Given the description of an element on the screen output the (x, y) to click on. 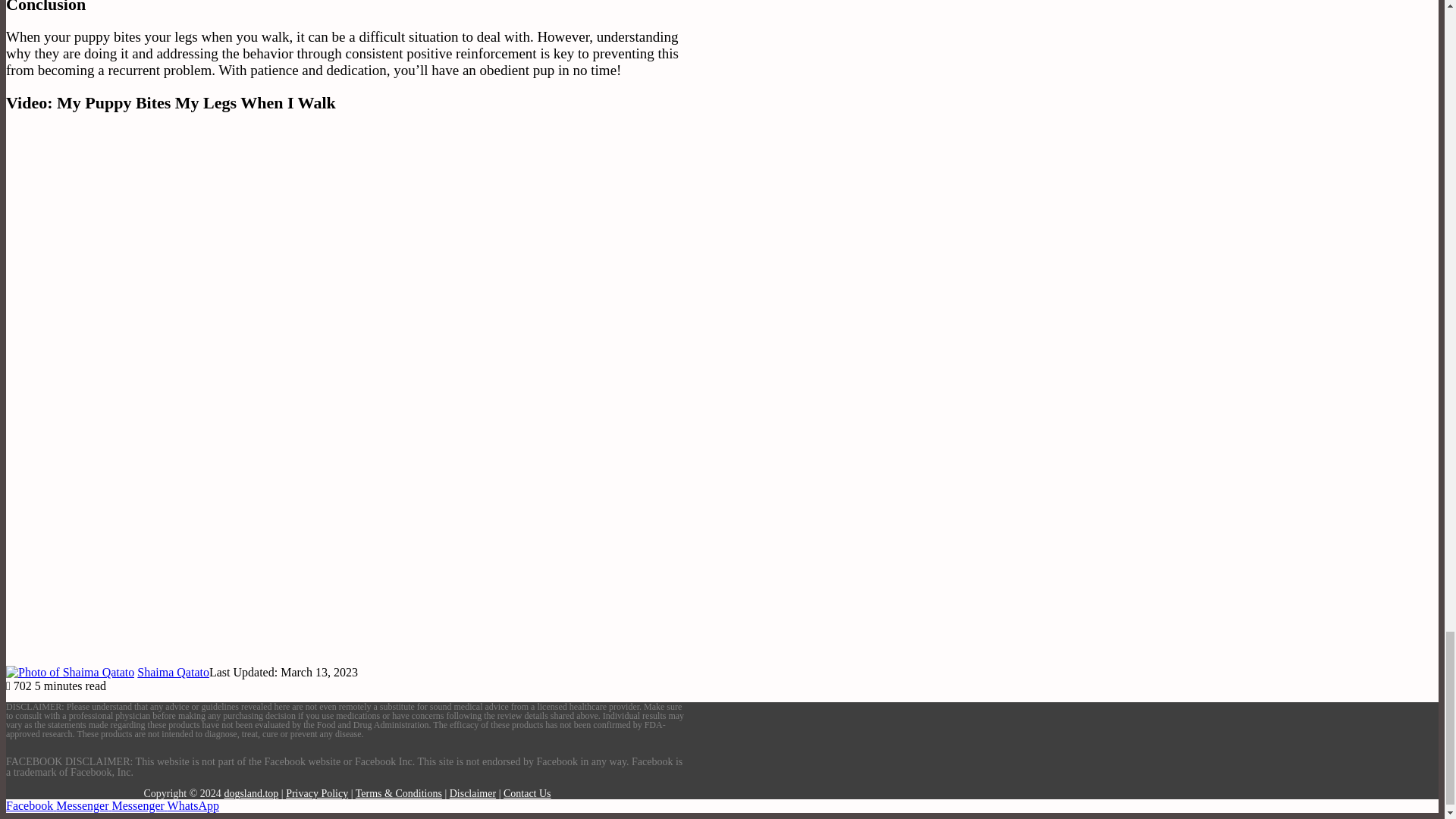
Messenger (139, 805)
Messenger (84, 805)
WhatsApp (193, 805)
Shaima Qatato (172, 671)
Facebook (30, 805)
